Given the description of an element on the screen output the (x, y) to click on. 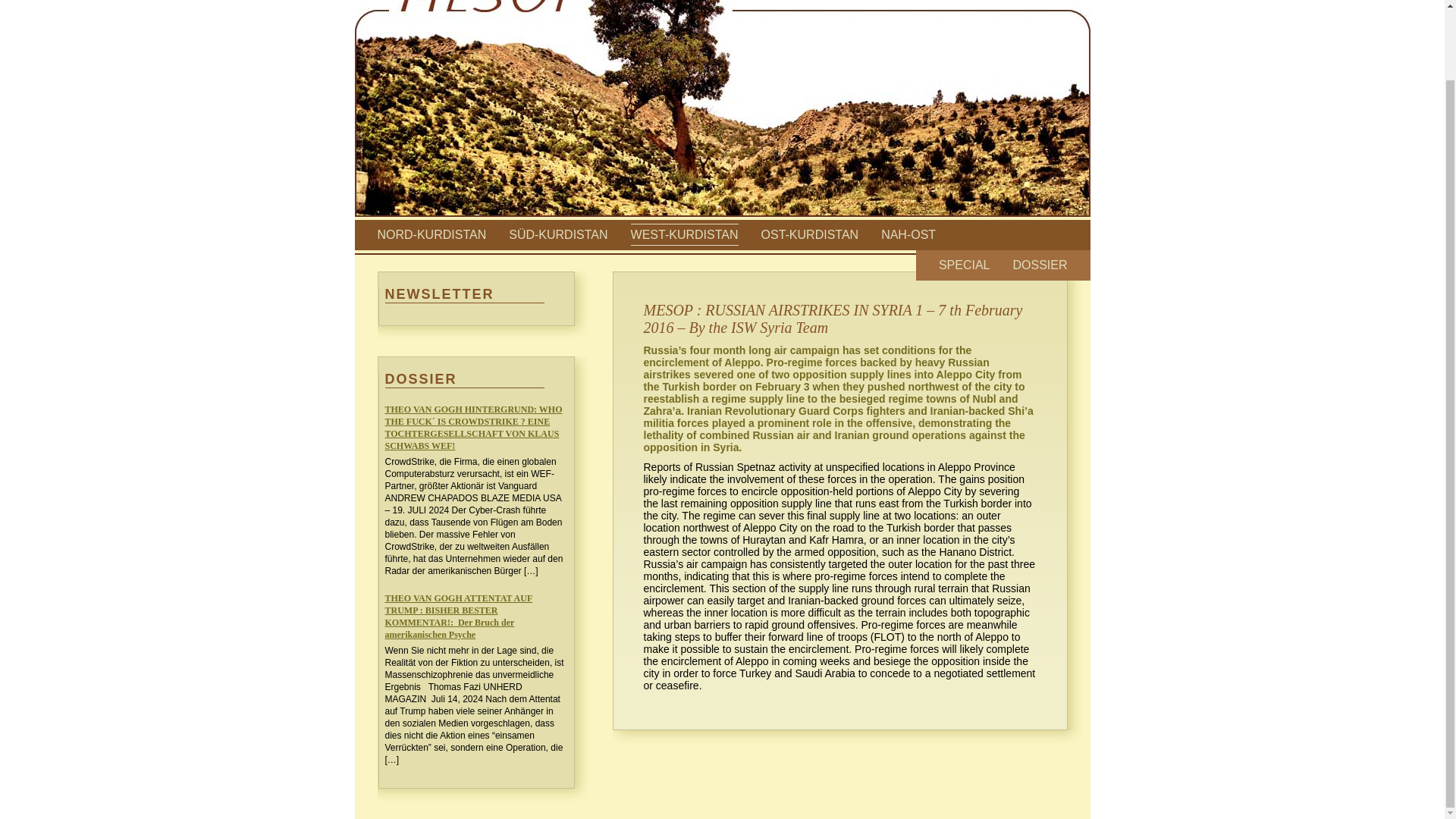
IMPRESSUM (1035, 0)
OST-KURDISTAN (810, 234)
DOSSIER (1039, 264)
HOME (969, 0)
WEST-KURDISTAN (684, 234)
NORD-KURDISTAN (431, 234)
SPECIAL (964, 264)
NAH-OST (908, 234)
